Given the description of an element on the screen output the (x, y) to click on. 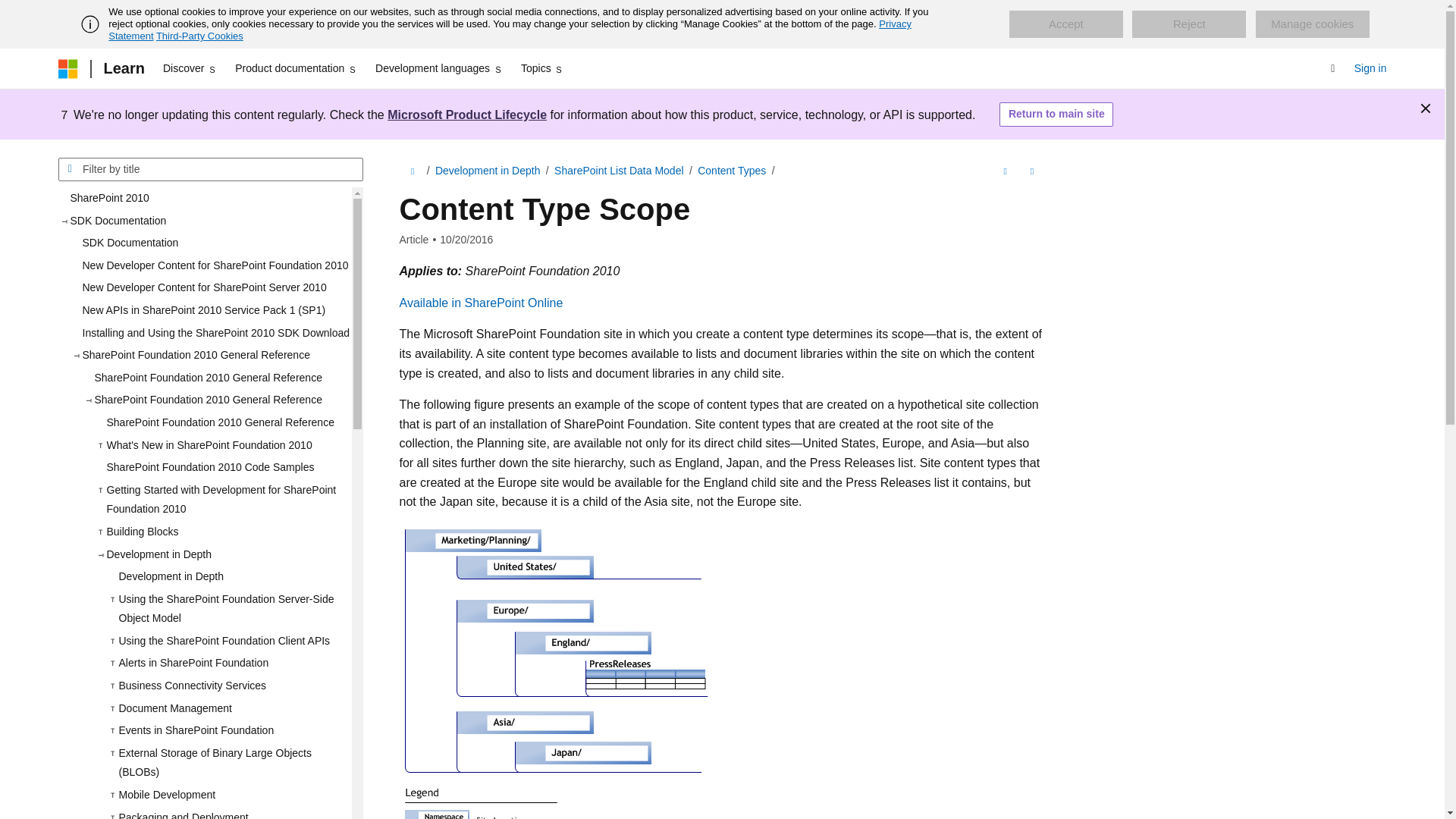
Site and list content type scope (557, 671)
Sign in (1370, 68)
Skip to main content (11, 11)
Discover (189, 68)
New Developer Content for SharePoint Server 2010 (209, 287)
More actions (1031, 170)
SharePoint Foundation 2010 General Reference (215, 377)
Learn (123, 68)
SharePoint Foundation 2010 Code Samples (222, 467)
Dismiss alert (1425, 108)
Accept (1065, 23)
Development in Depth (228, 576)
SharePoint 2010 (204, 198)
SDK Documentation (209, 242)
Return to main site (1055, 114)
